Given the description of an element on the screen output the (x, y) to click on. 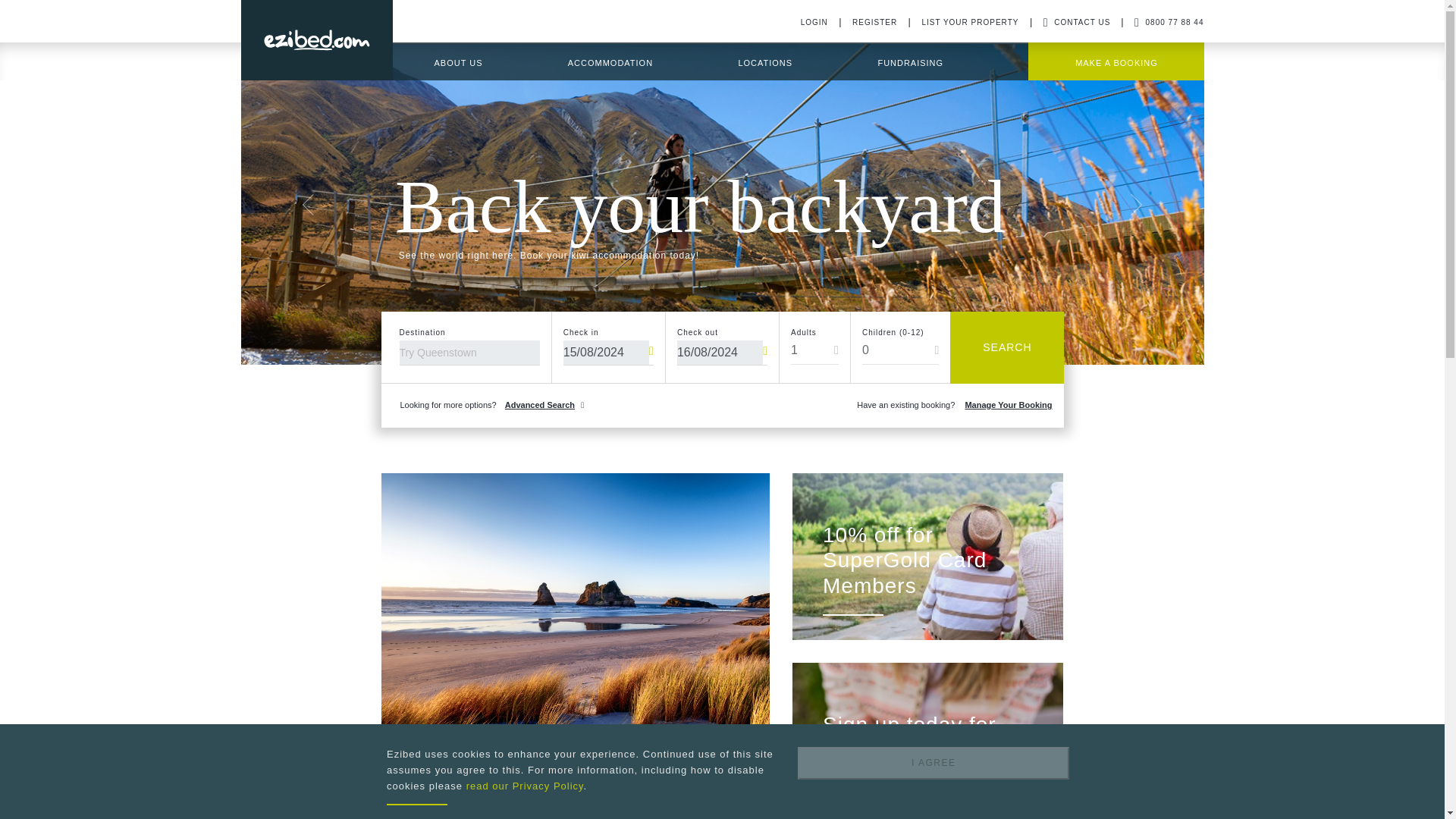
SEARCH (1007, 348)
LIST YOUR PROPERTY (969, 22)
0800 77 88 44 (1169, 22)
FUNDRAISING (910, 62)
LOGIN (814, 22)
REGISTER (873, 22)
MAKE A BOOKING (1116, 62)
ACCOMMODATION (609, 62)
ABOUT US (457, 62)
